Given the description of an element on the screen output the (x, y) to click on. 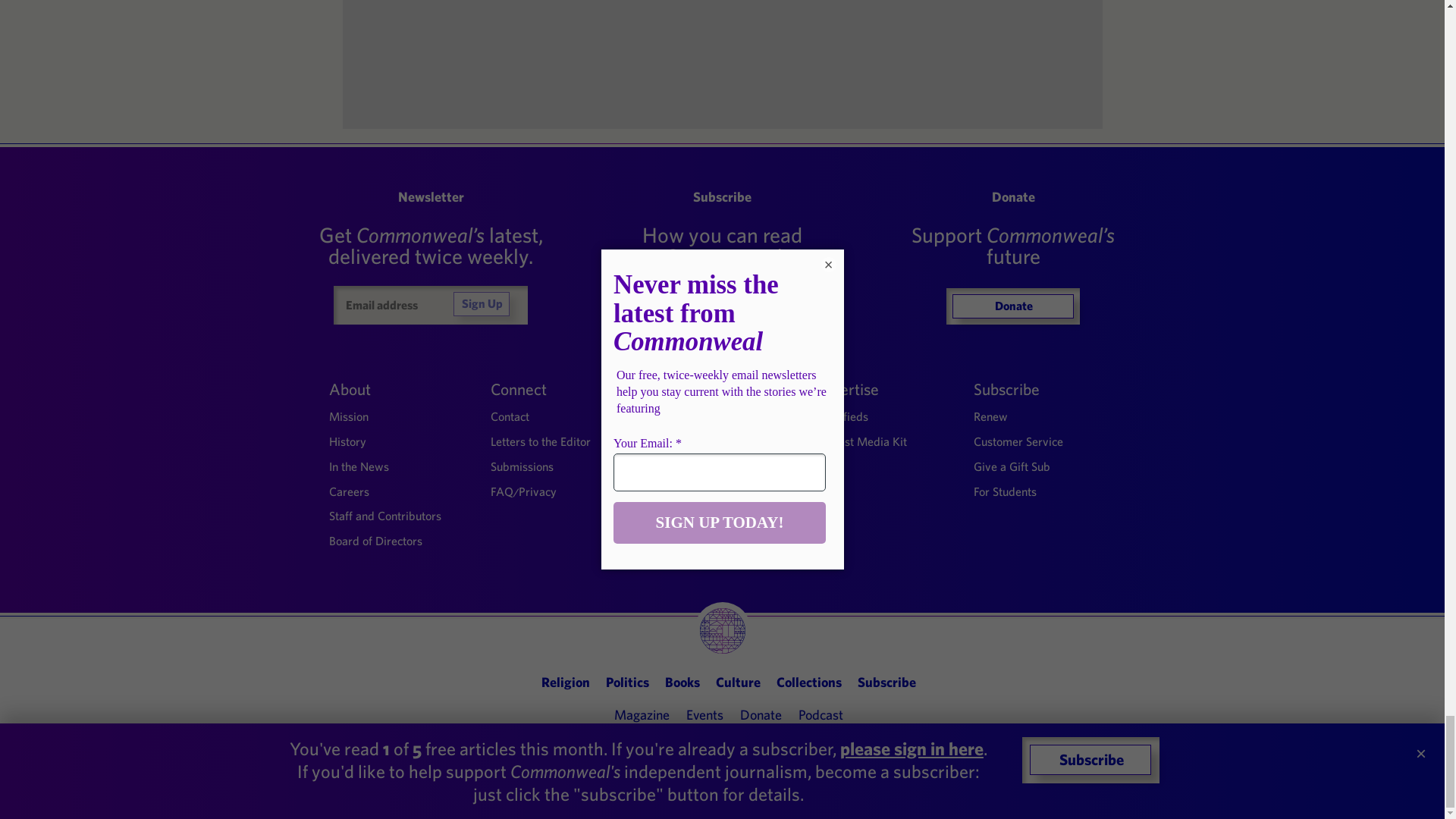
Sign Up (480, 303)
3rd party ad content (722, 58)
